Given the description of an element on the screen output the (x, y) to click on. 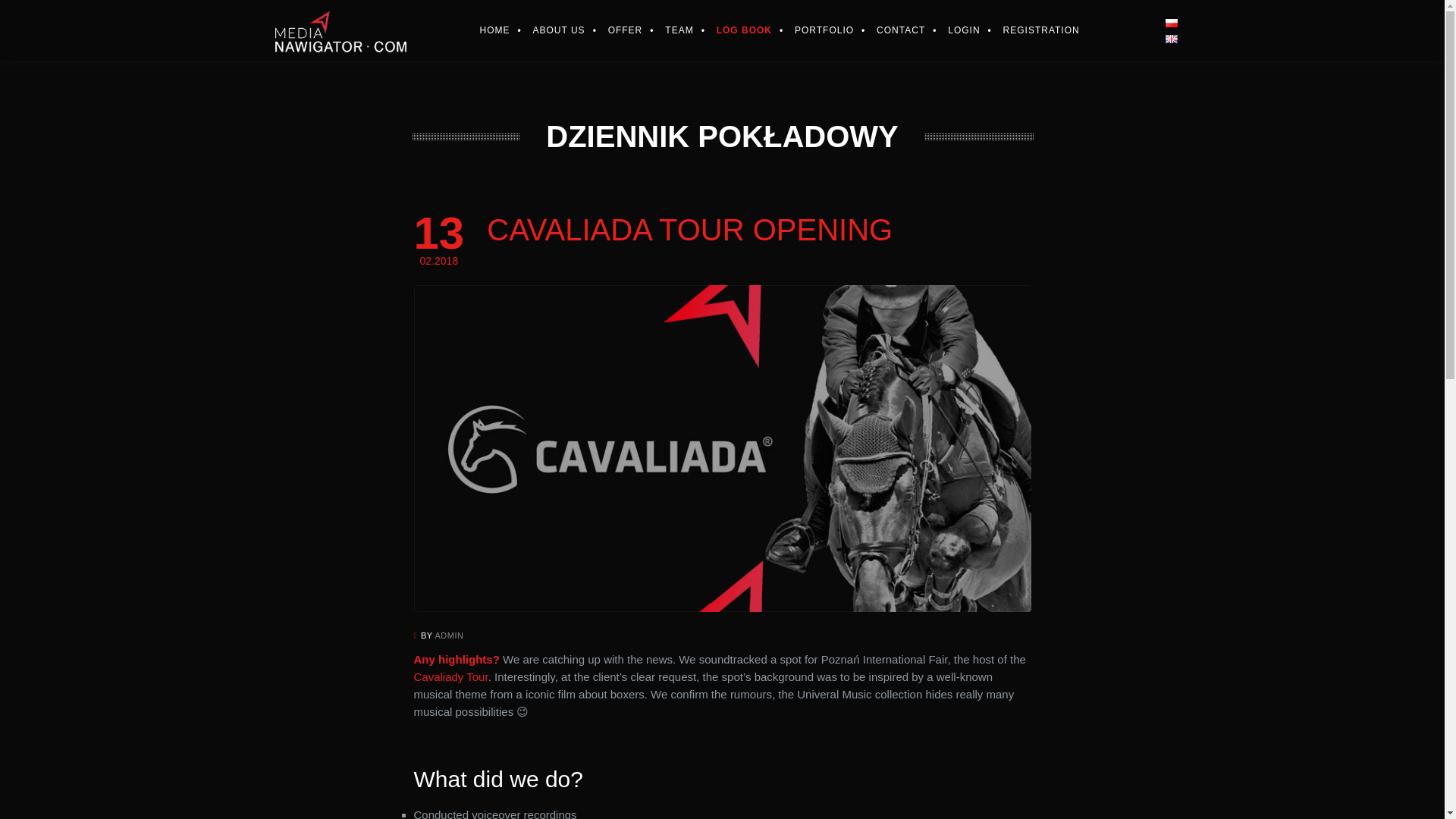
Cavaliada Tour (450, 676)
CONTACT (888, 30)
Cavaliady Tour (450, 676)
LOGIN (951, 30)
ABOUT US (547, 30)
PORTFOLIO (812, 30)
REGISTRATION (1029, 30)
LOG BOOK (732, 30)
OFFER (614, 30)
Pacjenci leczeni systemem Carriere (498, 778)
